Given the description of an element on the screen output the (x, y) to click on. 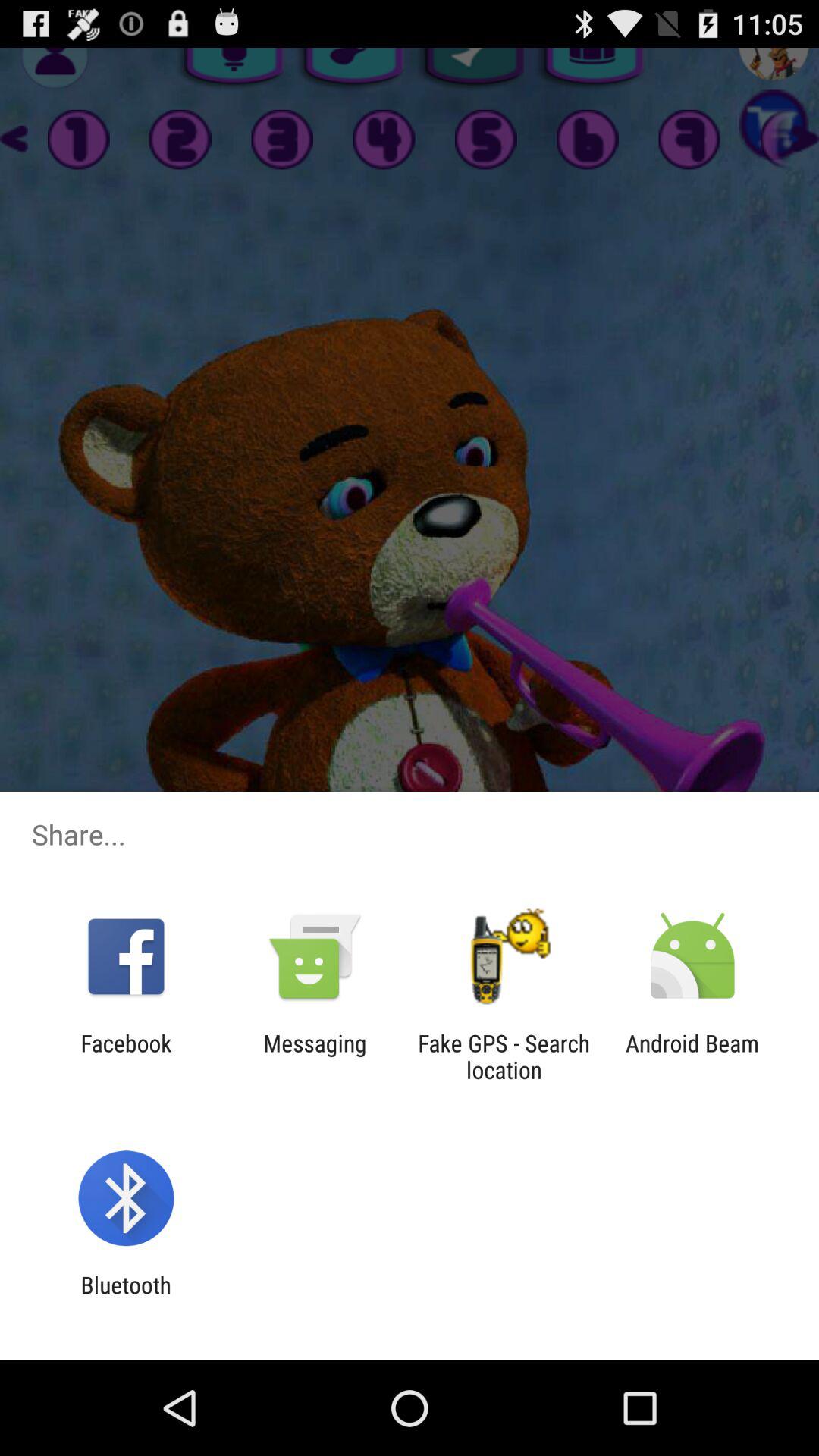
jump until facebook app (125, 1056)
